Given the description of an element on the screen output the (x, y) to click on. 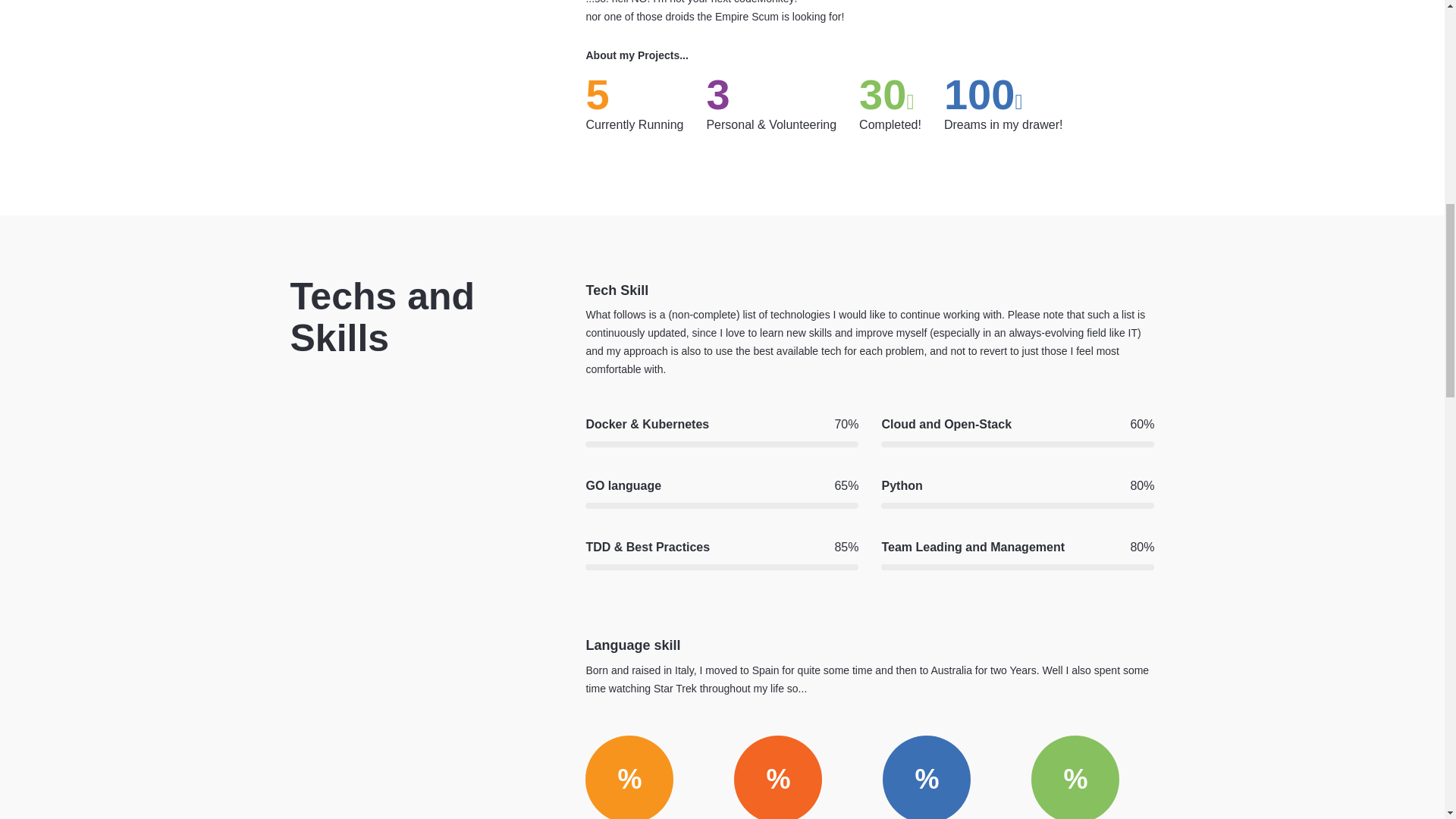
those droids the Empire Scum is looking for! (740, 16)
